Given the description of an element on the screen output the (x, y) to click on. 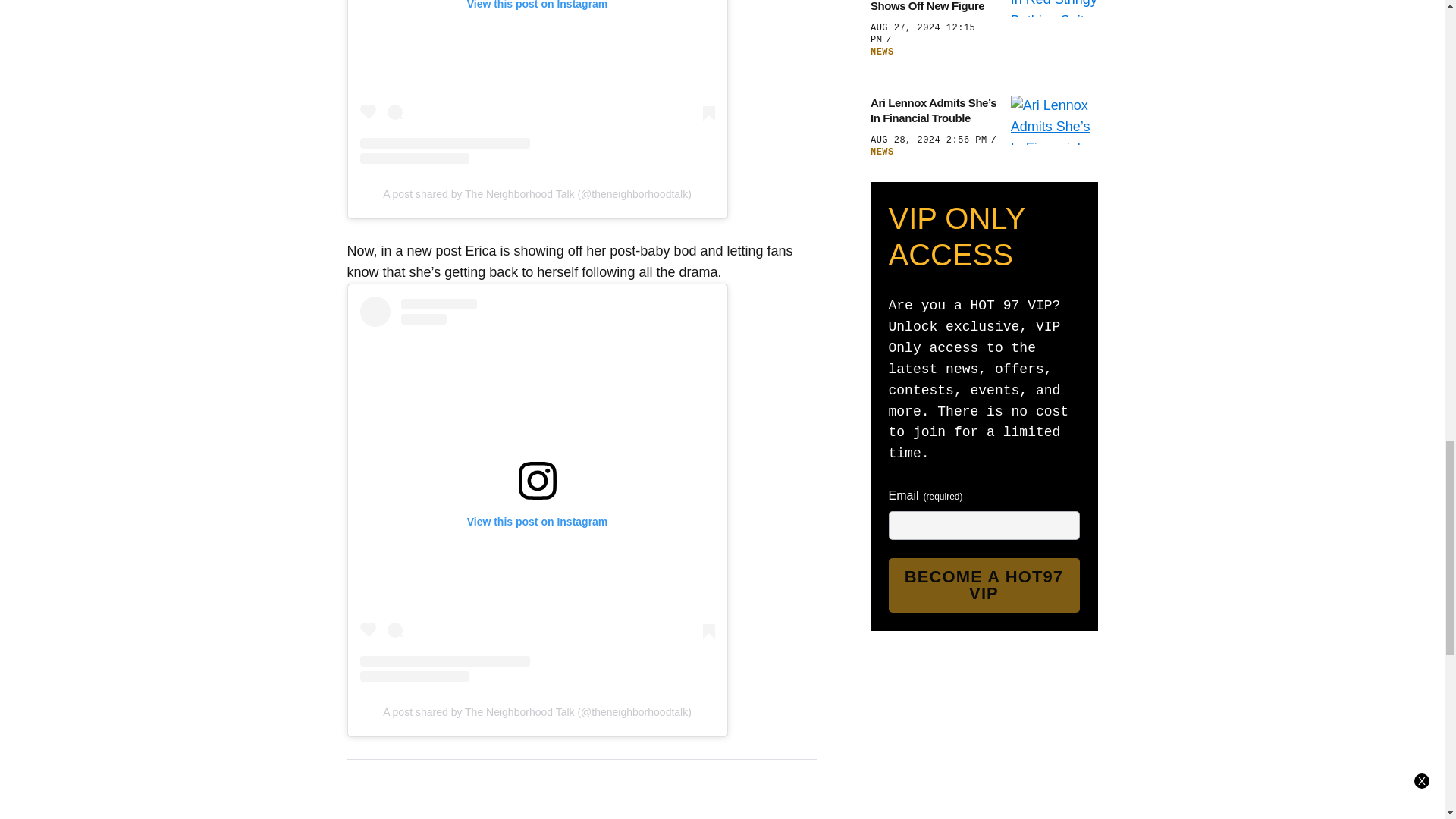
View this post on Instagram (536, 81)
BECOME A HOT97 VIP (984, 584)
